Given the description of an element on the screen output the (x, y) to click on. 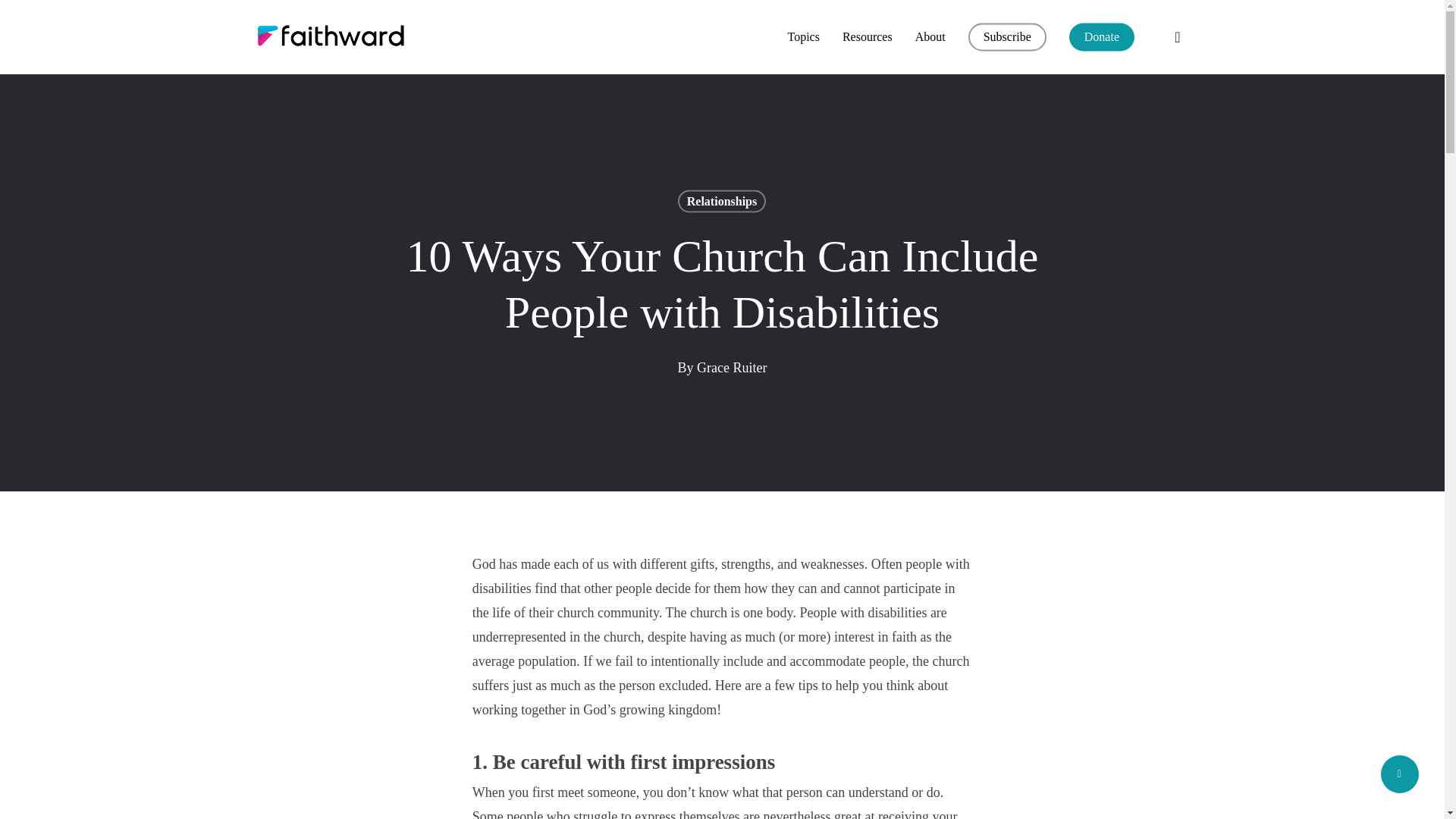
Donate (1101, 36)
search (1177, 36)
Resources (867, 36)
Relationships (721, 200)
Subscribe (1007, 36)
About (929, 36)
Topics (802, 36)
Grace Ruiter (732, 366)
